Given the description of an element on the screen output the (x, y) to click on. 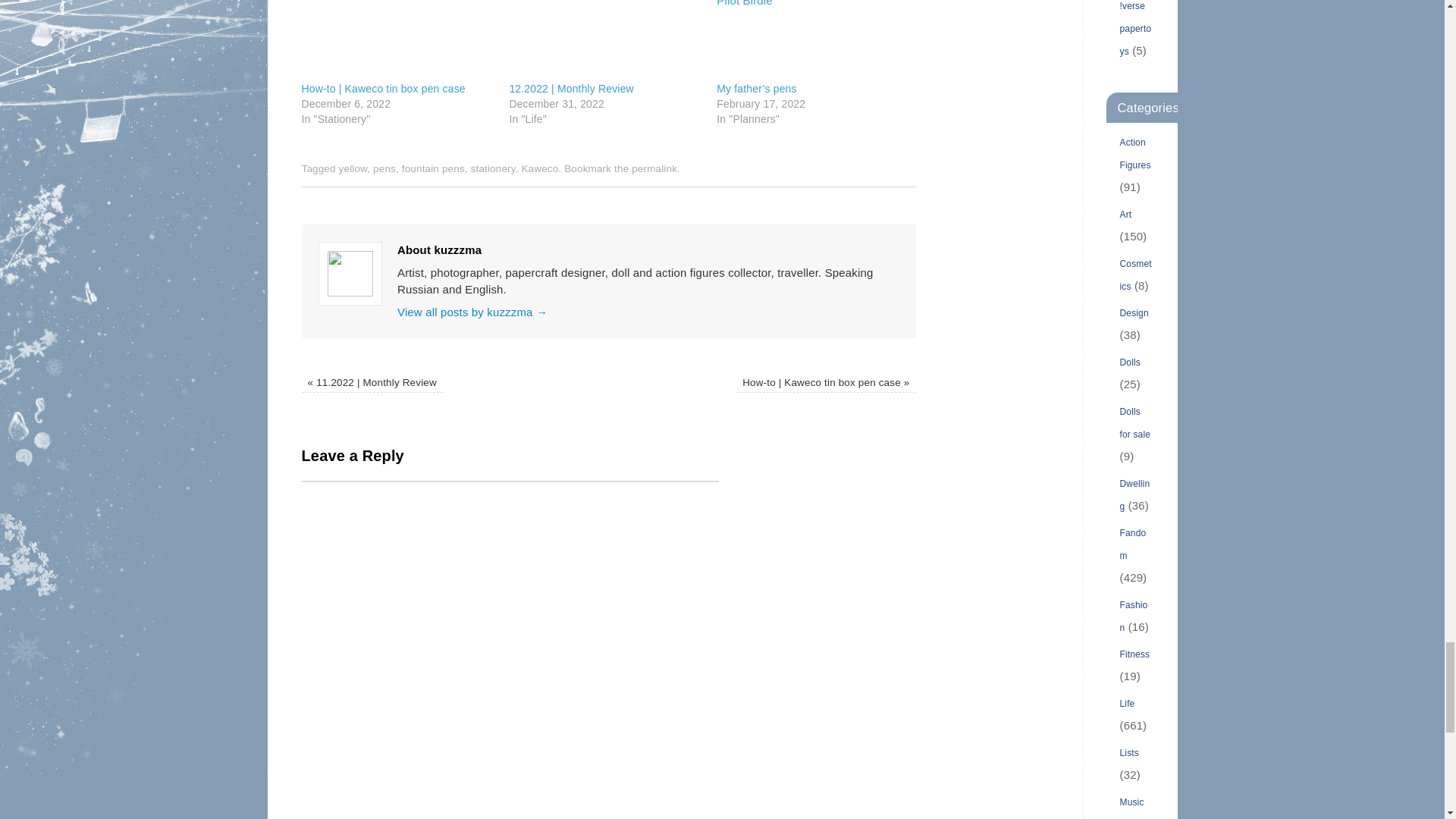
Permalink to Kaweco x Tokyobike fountain pen review (654, 168)
